Given the description of an element on the screen output the (x, y) to click on. 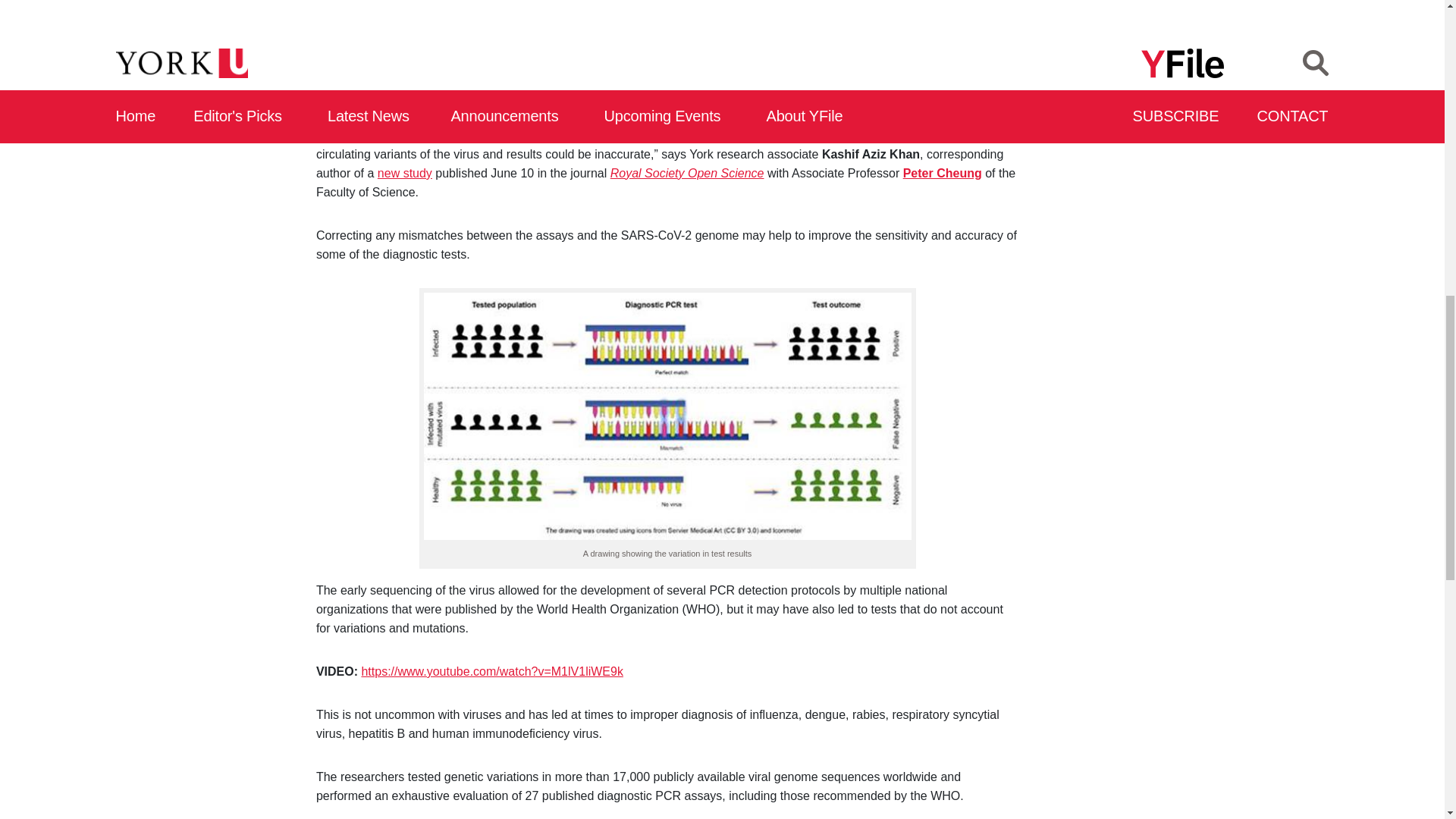
new study (404, 173)
Peter Cheung (941, 173)
Royal Society Open Science (687, 173)
